Given the description of an element on the screen output the (x, y) to click on. 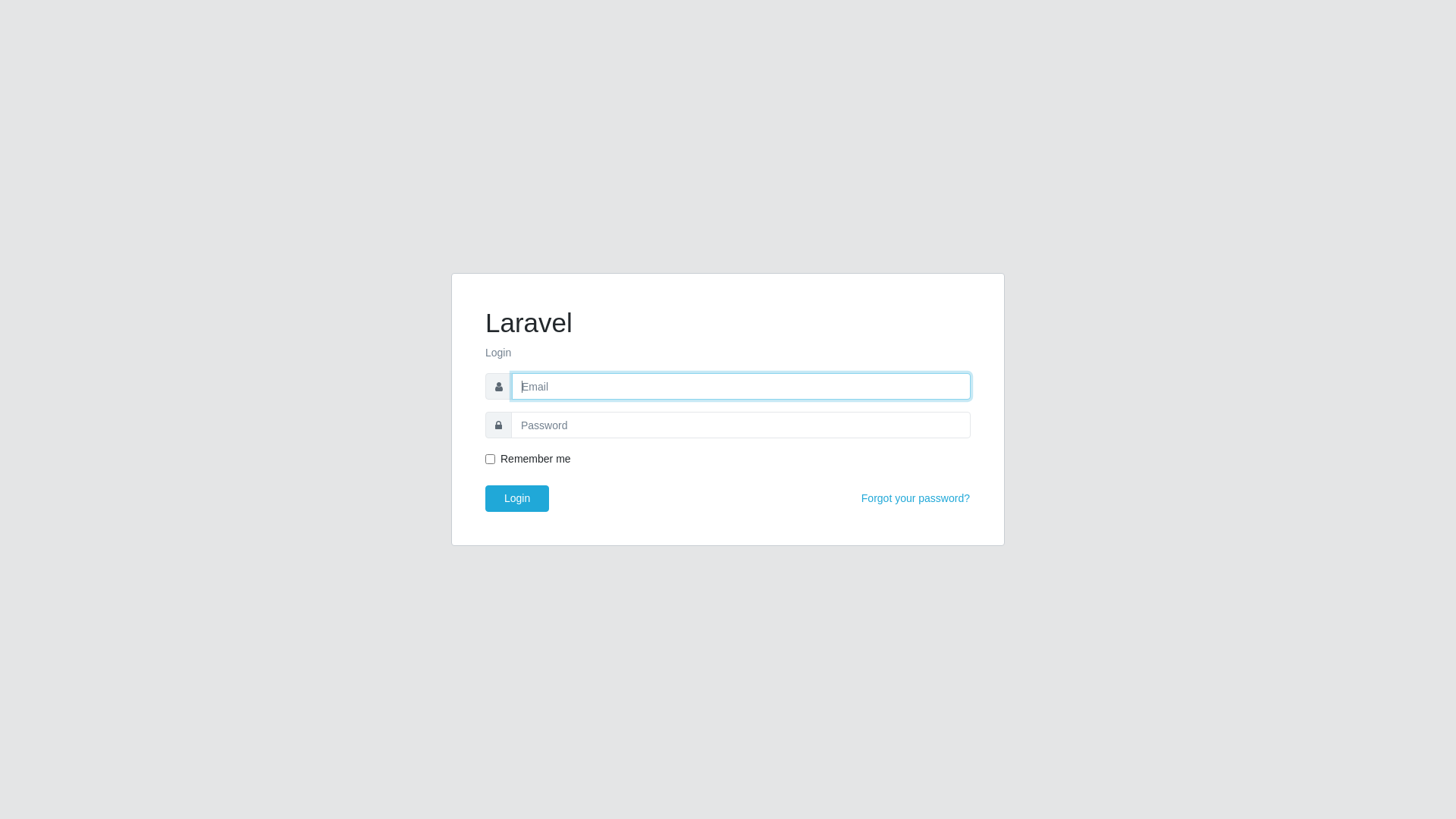
Login Element type: text (517, 498)
Forgot your password? Element type: text (915, 498)
